Given the description of an element on the screen output the (x, y) to click on. 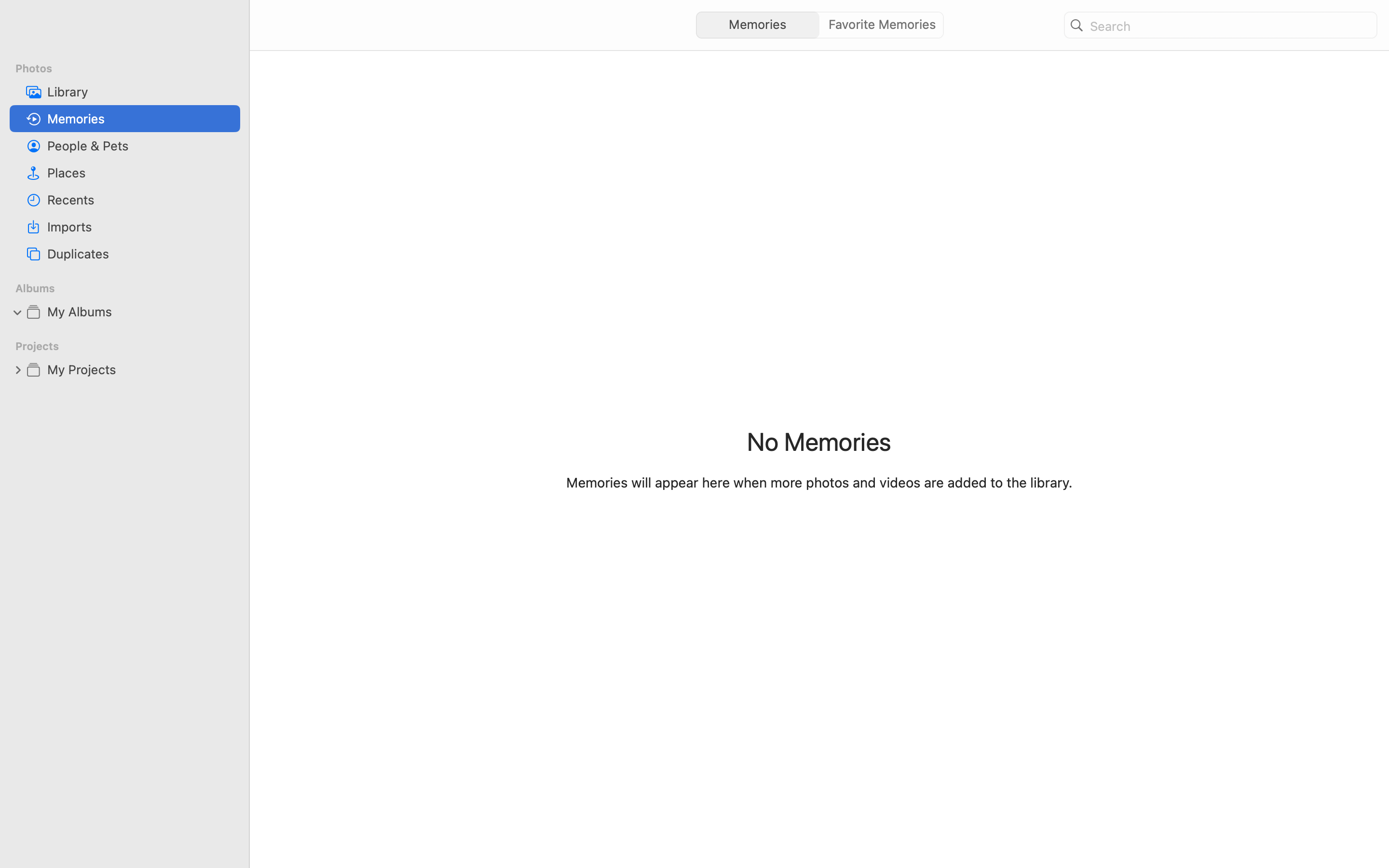
Recents Element type: AXStaticText (139, 199)
My Projects Element type: AXStaticText (139, 369)
Photos Element type: AXStaticText (130, 68)
Albums Element type: AXStaticText (130, 288)
Memories Element type: AXStaticText (139, 118)
